Given the description of an element on the screen output the (x, y) to click on. 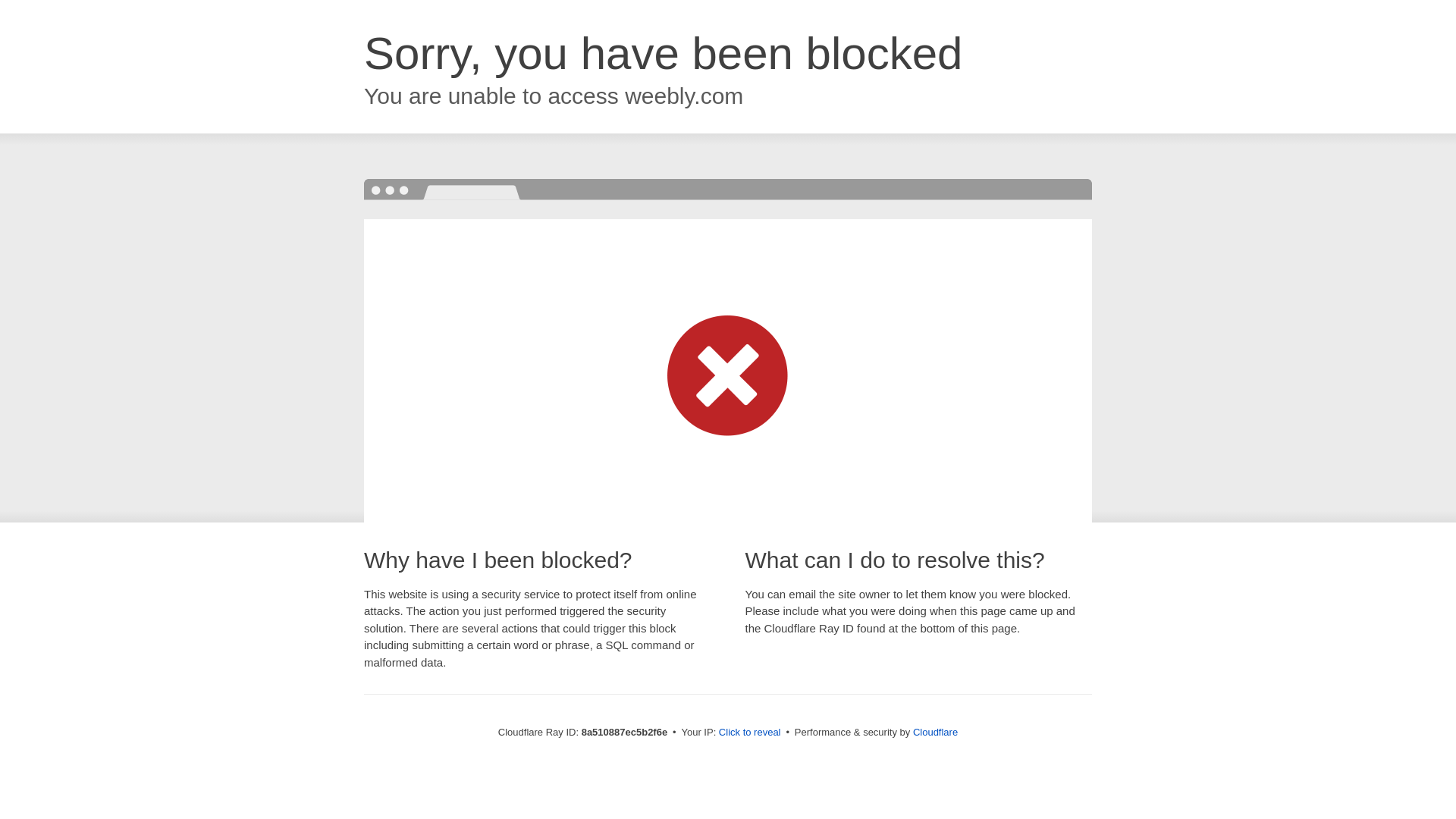
Click to reveal (749, 732)
Cloudflare (935, 731)
